Given the description of an element on the screen output the (x, y) to click on. 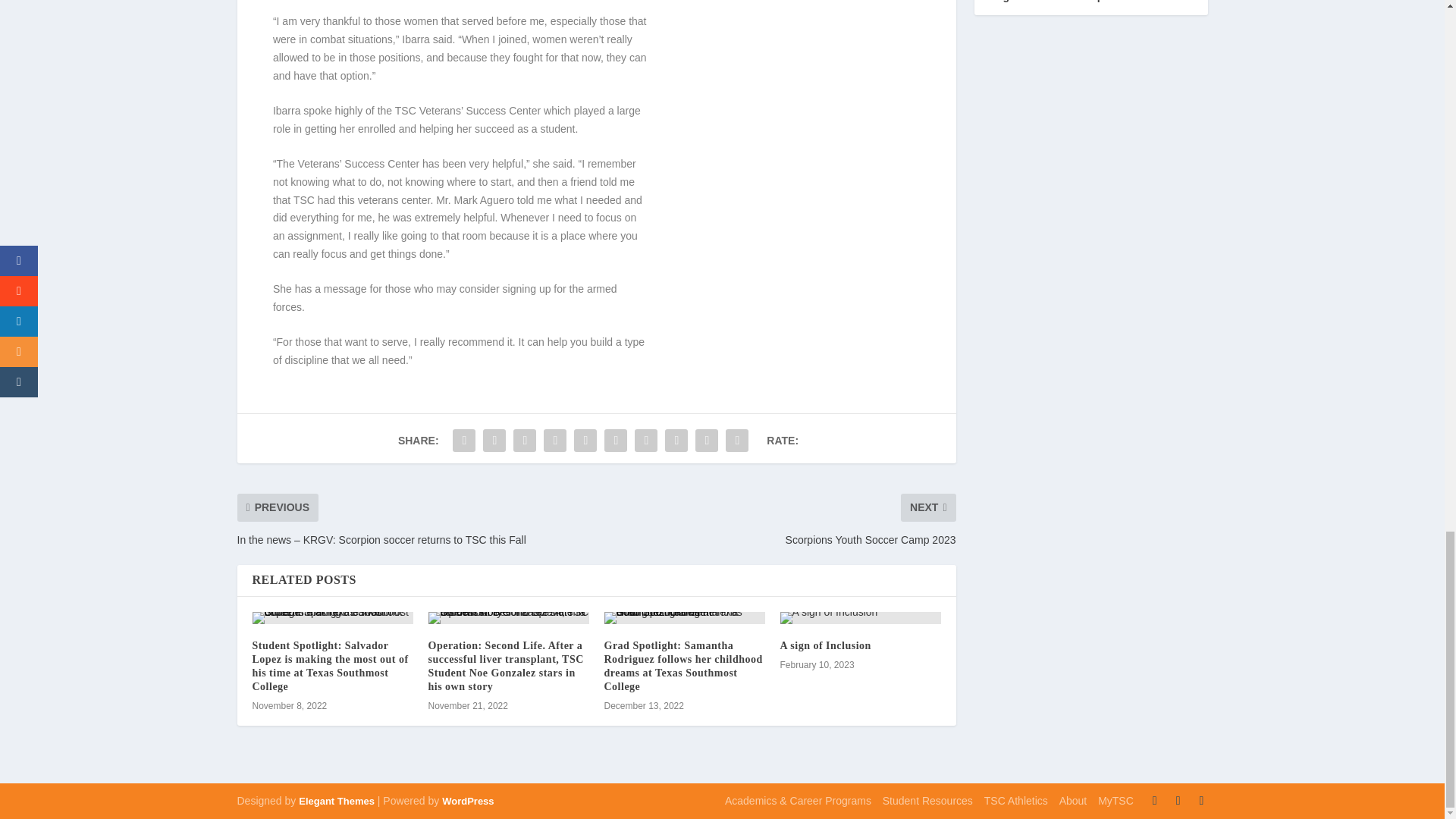
Share "Scorpion Veteran Spotlight: Dora Ibarra" via Tumblr (555, 440)
Share "Scorpion Veteran Spotlight: Dora Ibarra" via Twitter (494, 440)
Share "Scorpion Veteran Spotlight: Dora Ibarra" via Facebook (463, 440)
